Given the description of an element on the screen output the (x, y) to click on. 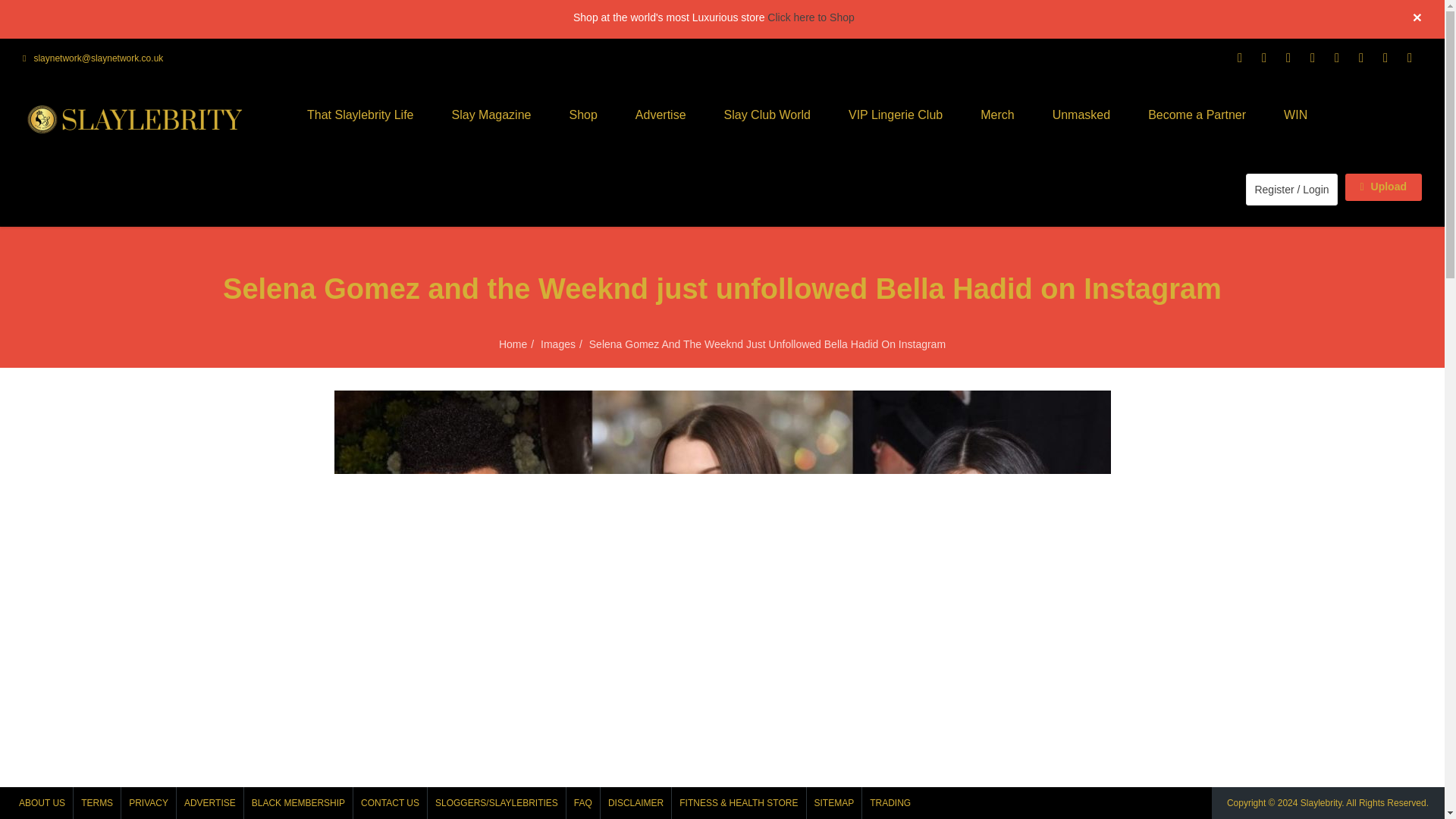
VIP Lingerie Club (894, 114)
Home (513, 344)
ADVERTISE (209, 803)
CONTACT US (389, 803)
Become a Partner (1197, 114)
Unmasked (1081, 114)
Click here to Shop (810, 17)
Images (557, 344)
TERMS (97, 803)
